Given the description of an element on the screen output the (x, y) to click on. 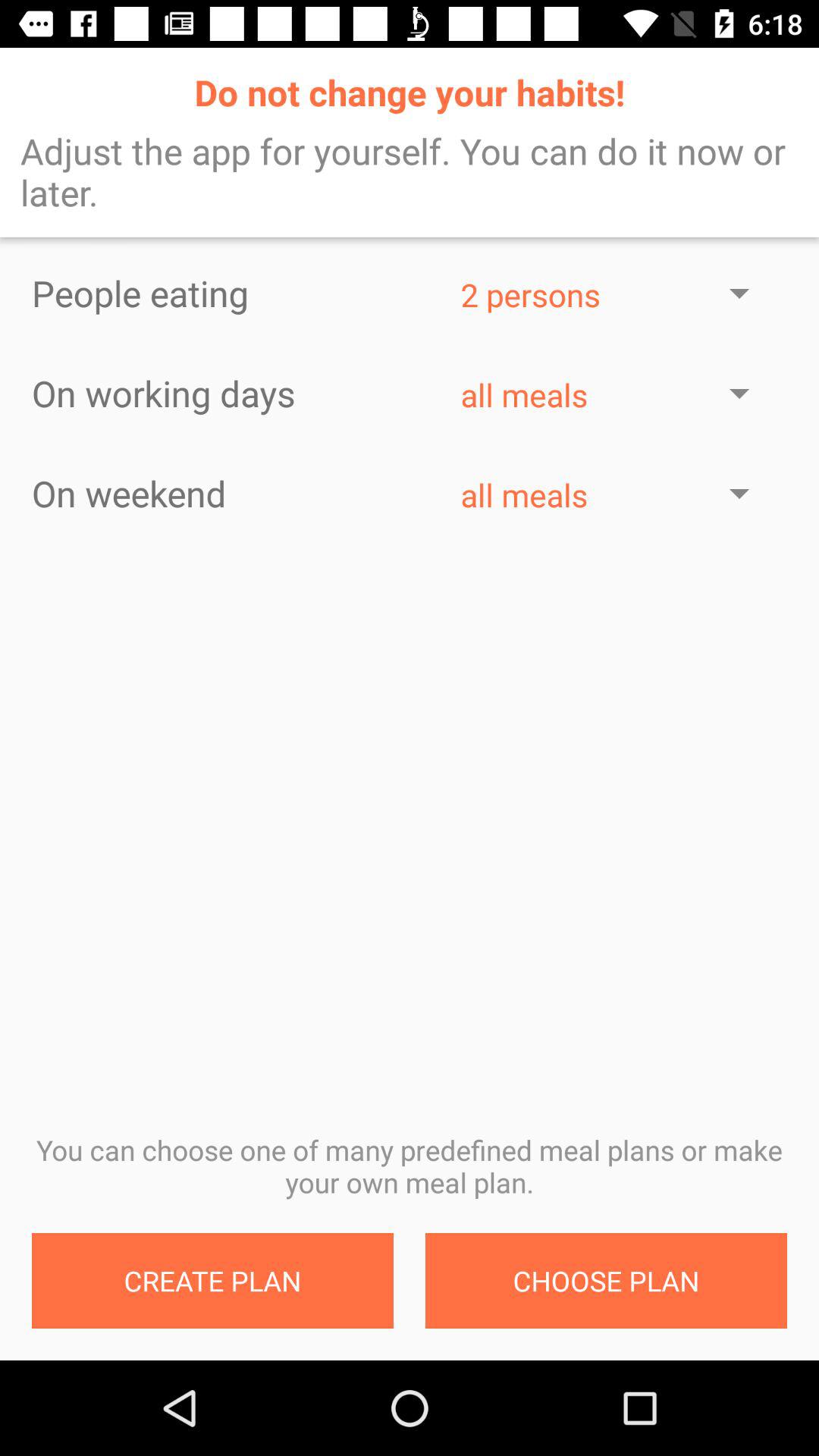
select the icon to the left of choose plan item (212, 1280)
